Given the description of an element on the screen output the (x, y) to click on. 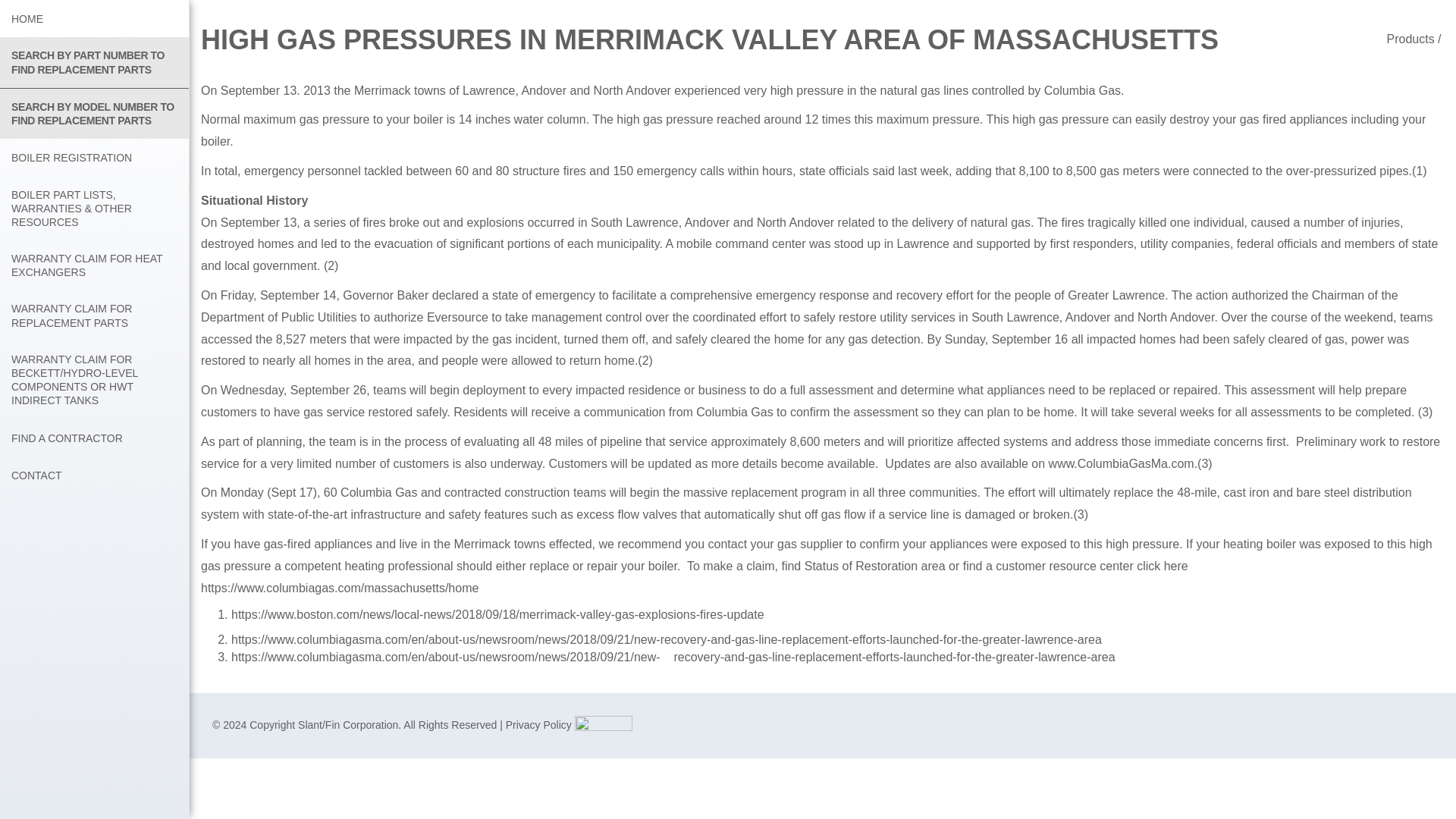
BOILER REGISTRATION (94, 157)
HOME (94, 18)
WARRANTY CLAIM FOR REPLACEMENT PARTS (94, 315)
FIND A CONTRACTOR (94, 437)
WARRANTY CLAIM FOR HEAT EXCHANGERS (94, 265)
SEARCH BY PART NUMBER TO FIND REPLACEMENT PARTS (94, 61)
www.ColumbiaGasMa.com (1120, 463)
Products (1410, 38)
CONTACT (94, 474)
SEARCH BY MODEL NUMBER TO FIND REPLACEMENT PARTS (94, 113)
